Given the description of an element on the screen output the (x, y) to click on. 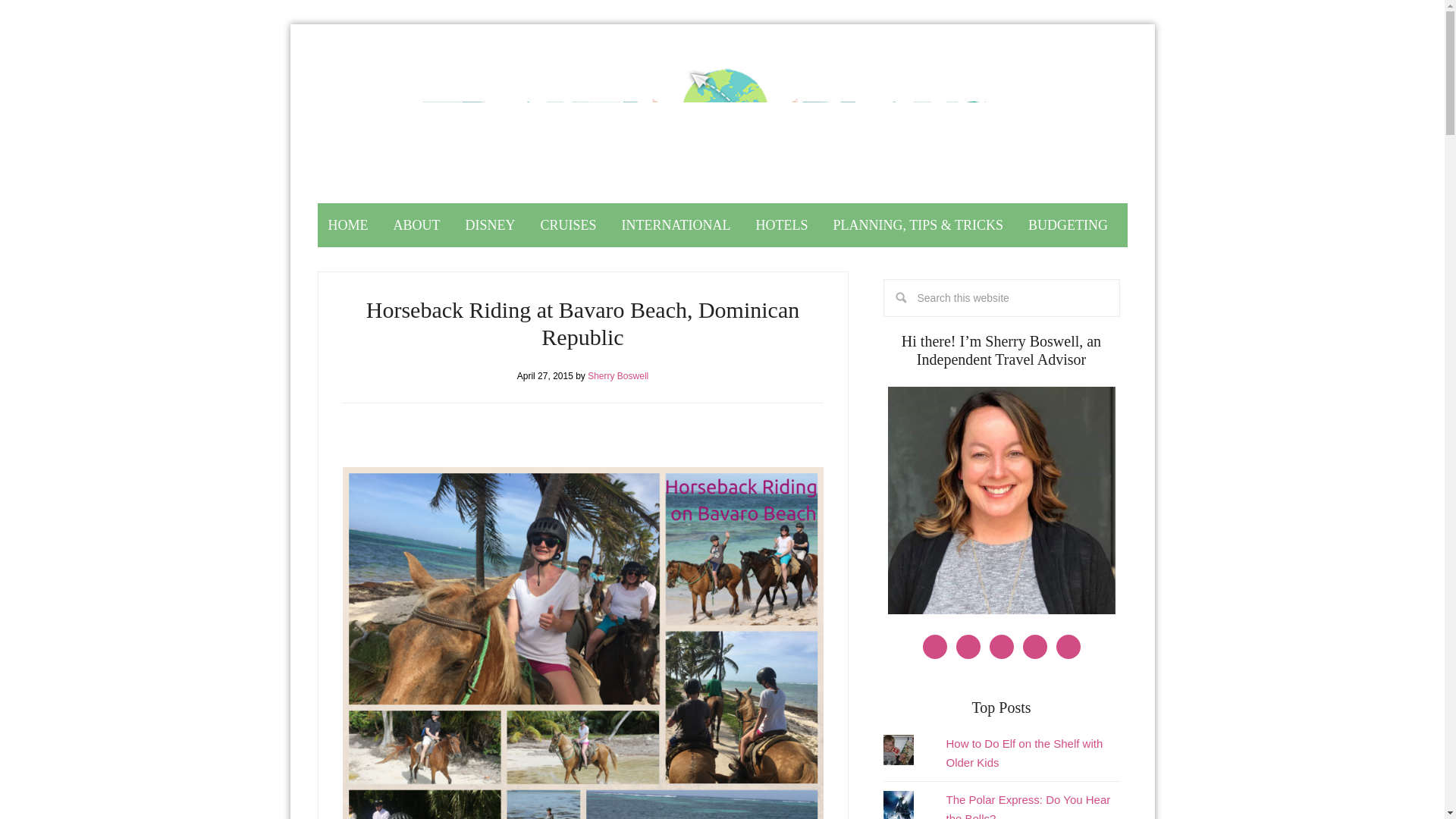
The Polar Express: Do You Hear the Bells? (1026, 806)
DISNEY (489, 225)
HOTELS (781, 225)
How to Do Elf on the Shelf with Older Kids (1023, 752)
CRUISES (568, 225)
ABOUT (416, 225)
Travel Plans in My Hands (722, 127)
INTERNATIONAL (676, 225)
BUDGETING (1067, 225)
Sherry Boswell (617, 376)
HOME (347, 225)
